Given the description of an element on the screen output the (x, y) to click on. 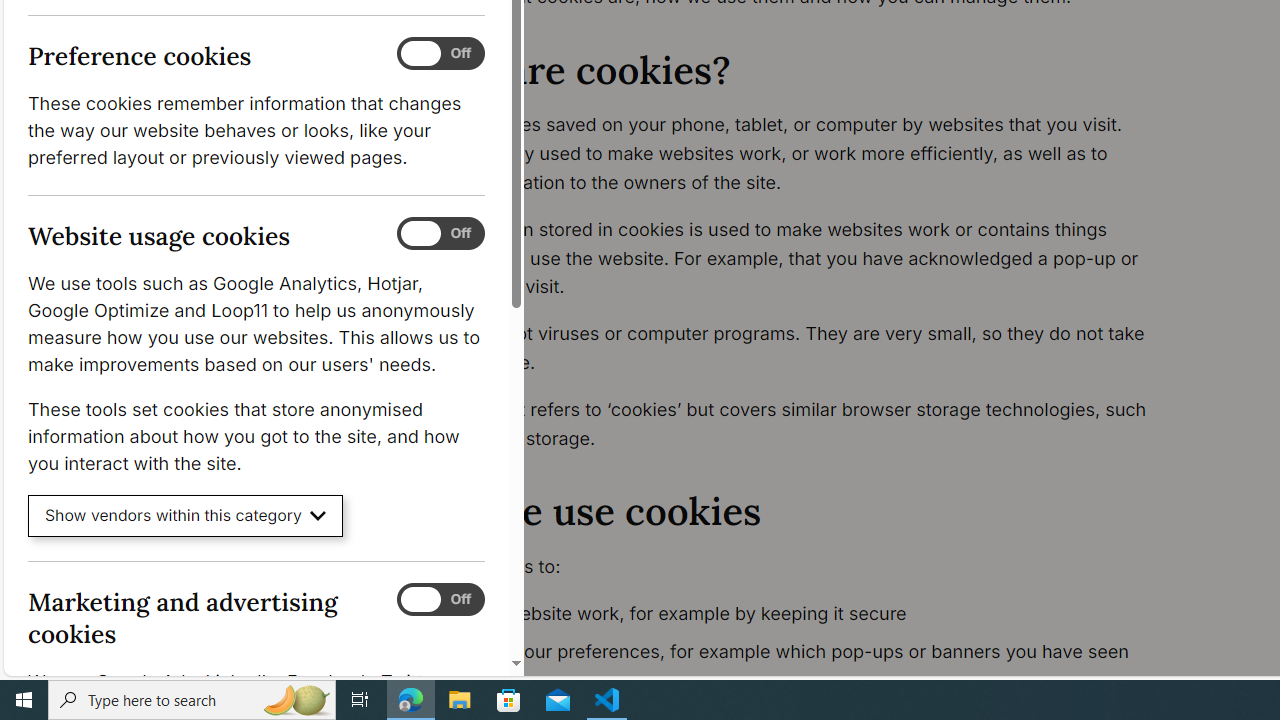
Preference cookies (440, 53)
make our website work, for example by keeping it secure (796, 614)
Website usage cookies (440, 233)
Show vendors within this category (185, 516)
Marketing and advertising cookies (440, 599)
